Given the description of an element on the screen output the (x, y) to click on. 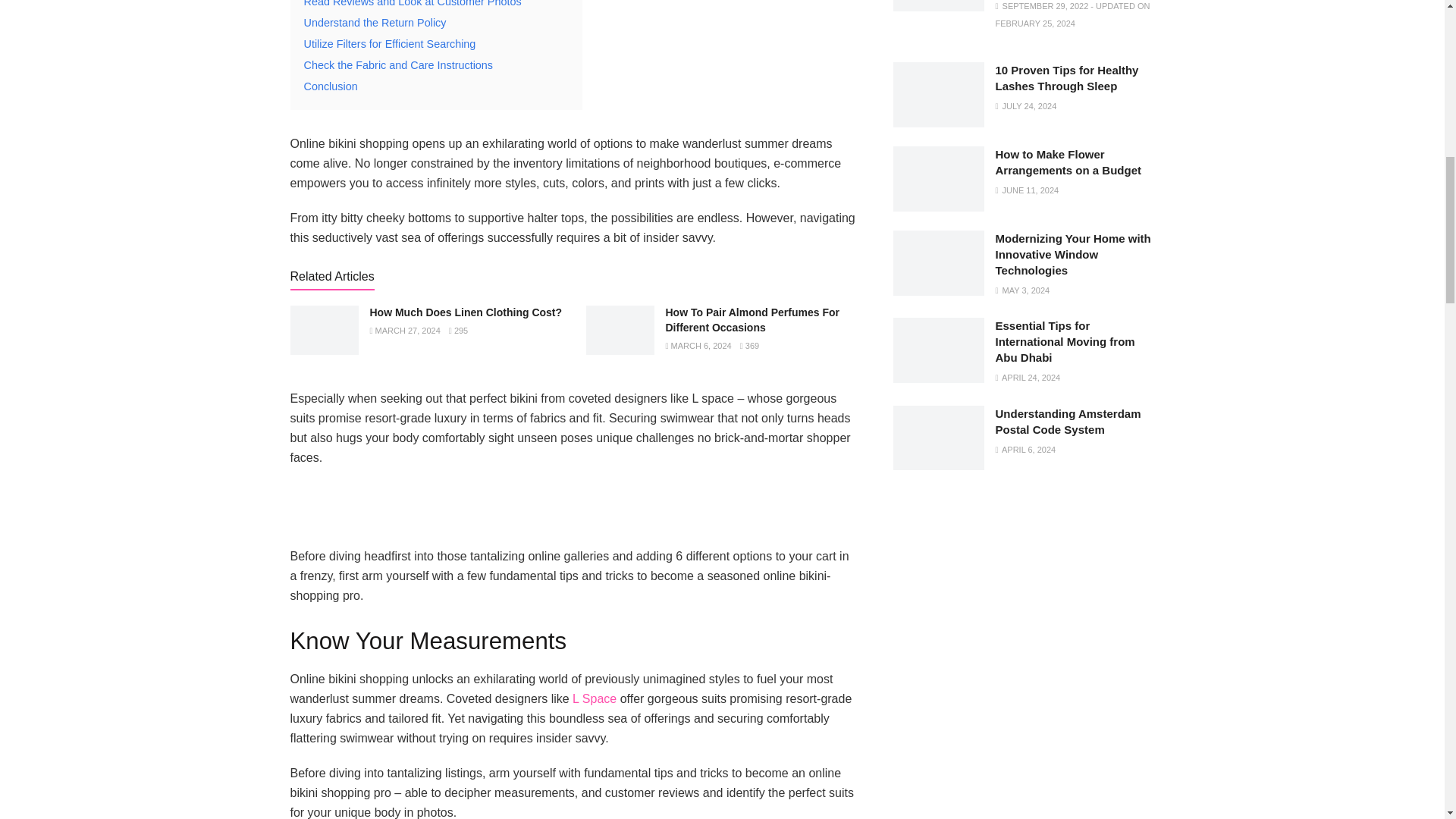
7 Beauty Marks: Embracing Freckles, Moles, And Birthmarks 12 (938, 5)
How Much Does Linen Clothing Cost? 3 (323, 329)
How To Pair Almond Perfumes For Different Occasions 4 (619, 329)
